Given the description of an element on the screen output the (x, y) to click on. 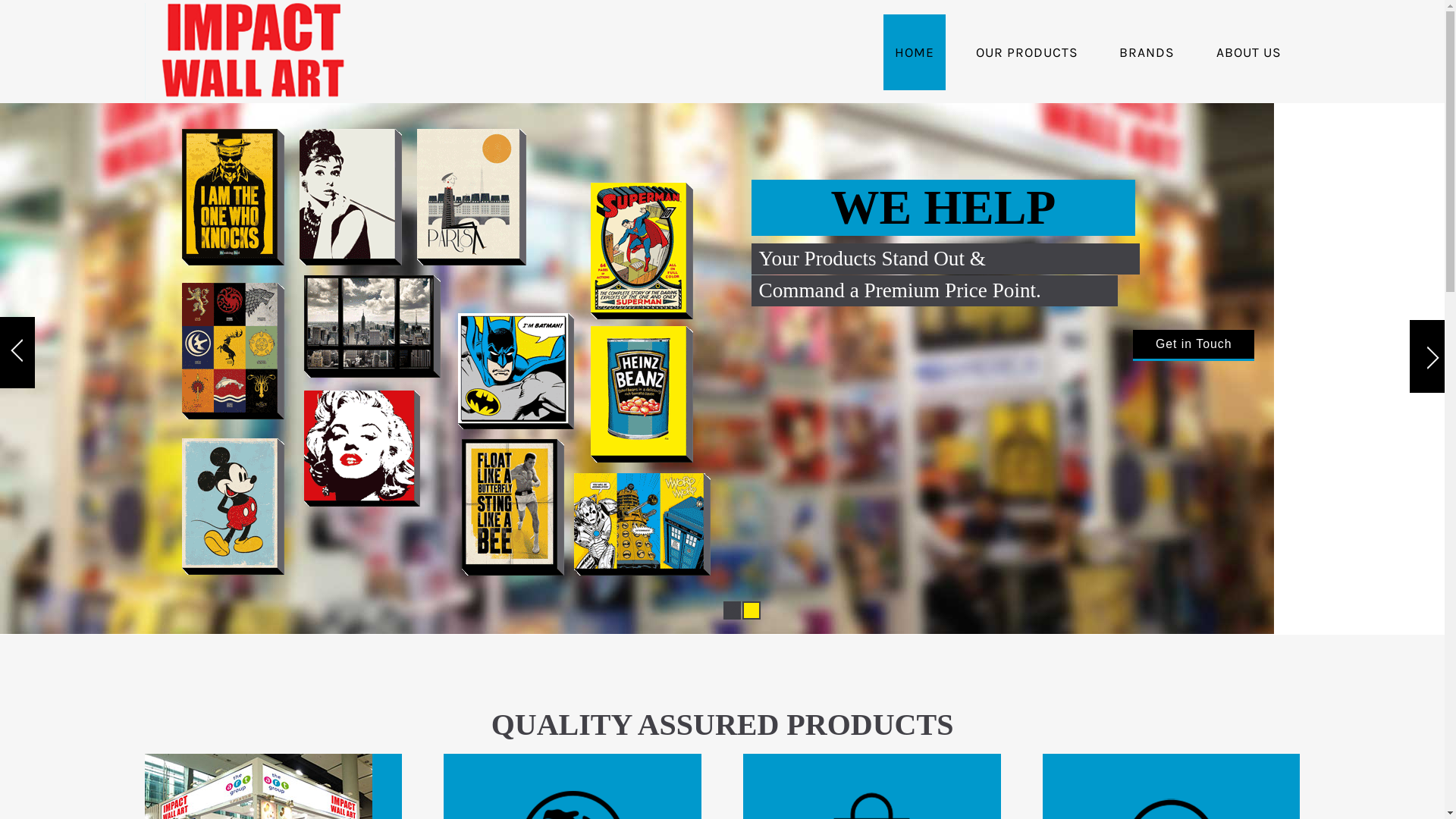
Next Element type: text (1426, 354)
OUR PRODUCTS Element type: text (1026, 52)
Previous Element type: text (17, 354)
BRANDS Element type: text (1146, 52)
Get in Touch Element type: text (587, 376)
Get in Touch Element type: text (587, 374)
ABOUT US Element type: text (1248, 52)
0 Element type: text (730, 610)
HOME Element type: text (914, 52)
1 Element type: text (750, 610)
